Given the description of an element on the screen output the (x, y) to click on. 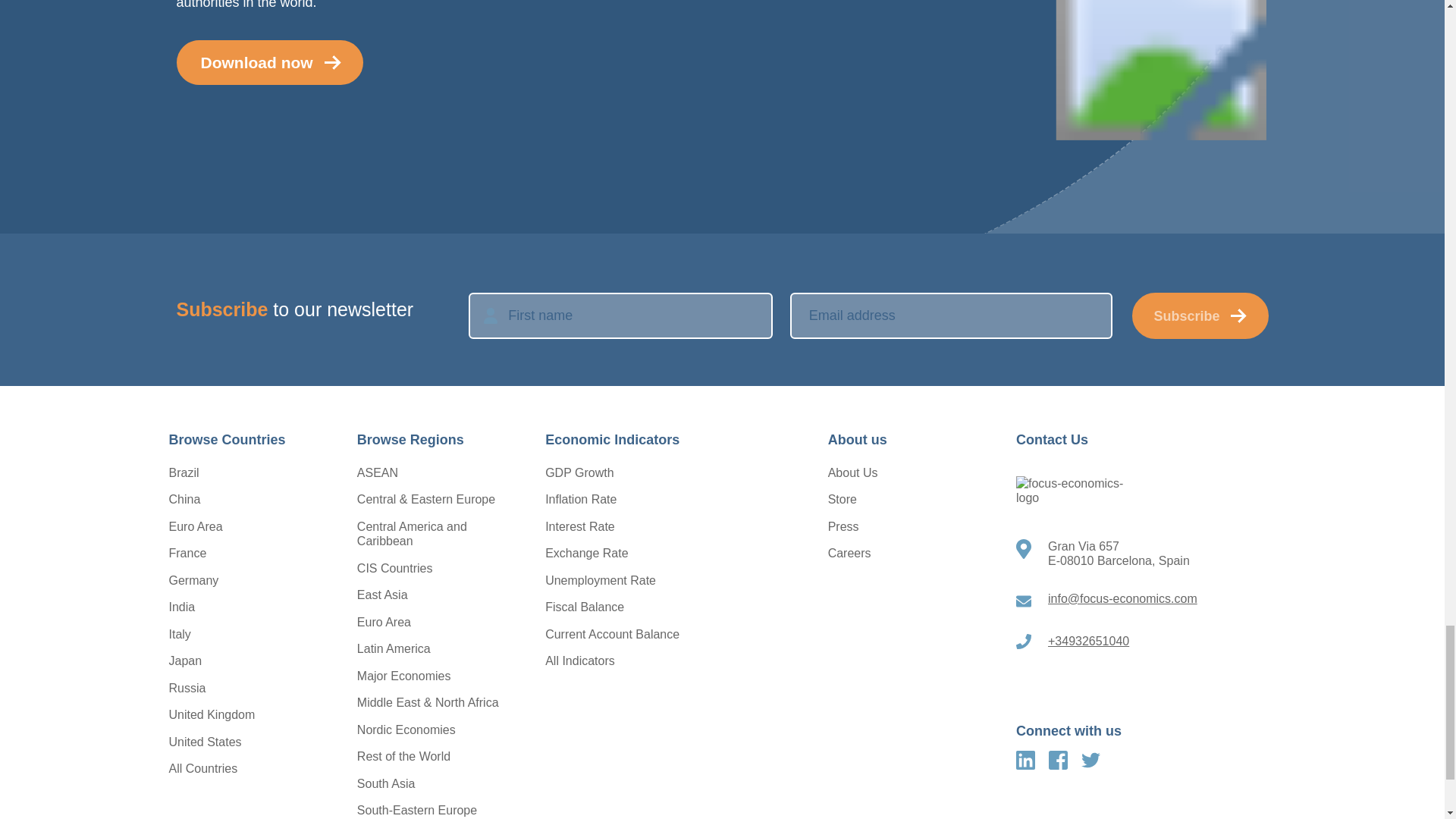
Subscribe (1200, 315)
